Given the description of an element on the screen output the (x, y) to click on. 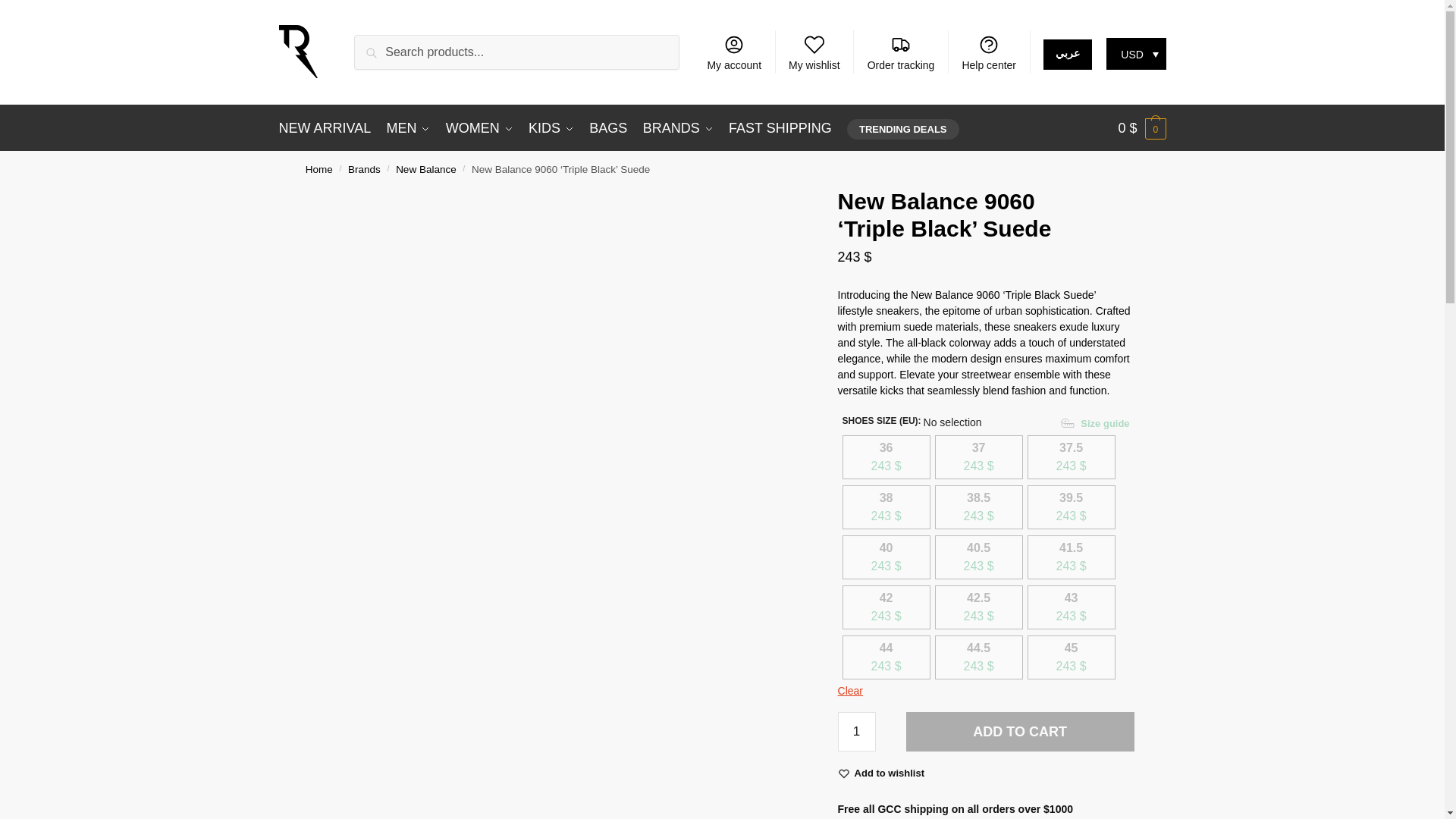
My account (733, 52)
BRANDS (677, 127)
Help center (988, 52)
Order tracking (900, 52)
View your shopping cart (1142, 127)
MEN (408, 127)
NEW ARRIVAL (328, 127)
1 (857, 731)
USD (1136, 53)
BAGS (607, 127)
